Given the description of an element on the screen output the (x, y) to click on. 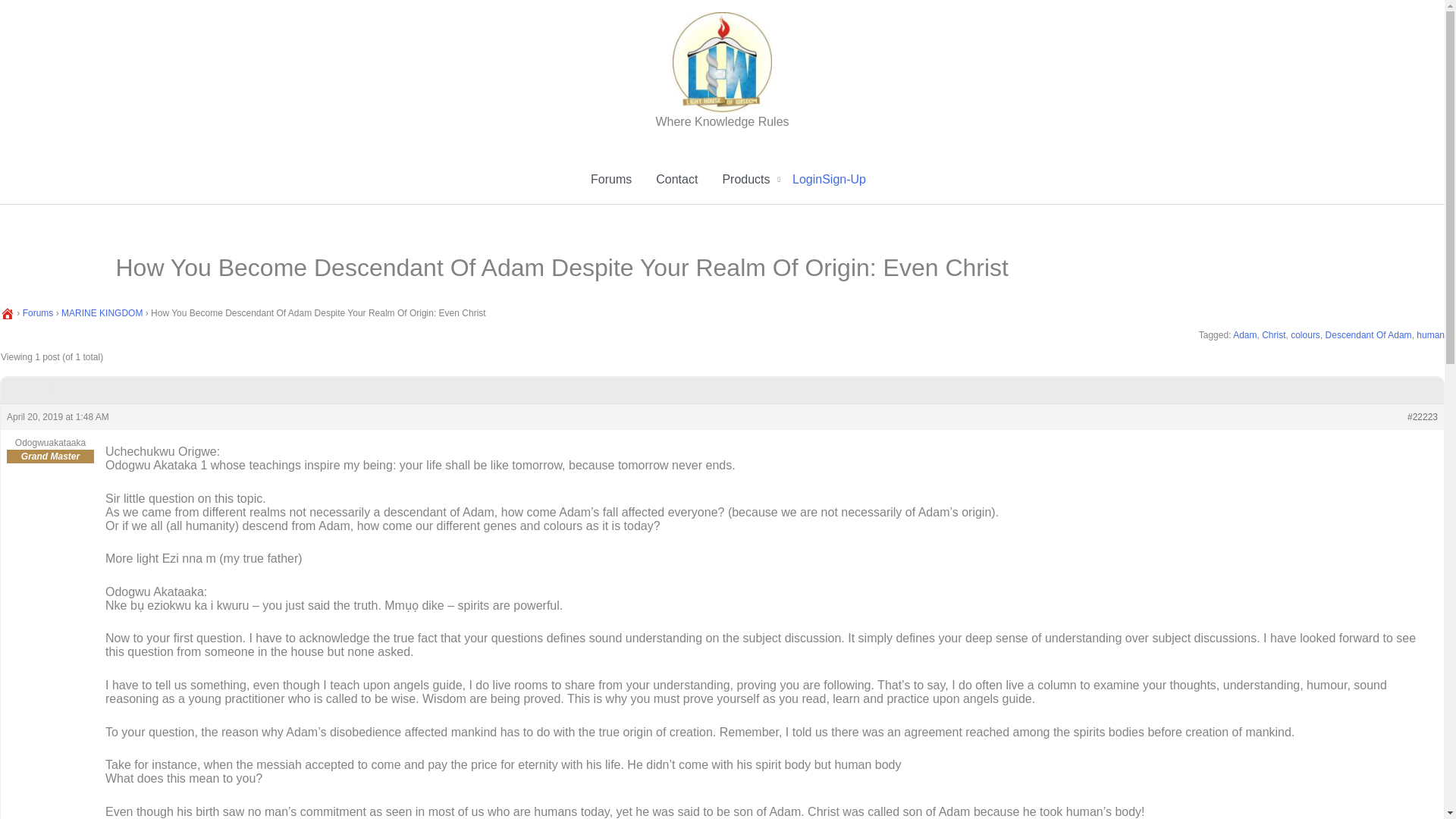
Forums (610, 179)
Christ (1273, 335)
Forums (38, 312)
MARINE KINGDOM (101, 312)
Descendant Of Adam (1368, 335)
Login (807, 178)
colours (1305, 335)
Sign-Up (844, 178)
Products (751, 179)
Adam (1244, 335)
Contact (676, 179)
